Given the description of an element on the screen output the (x, y) to click on. 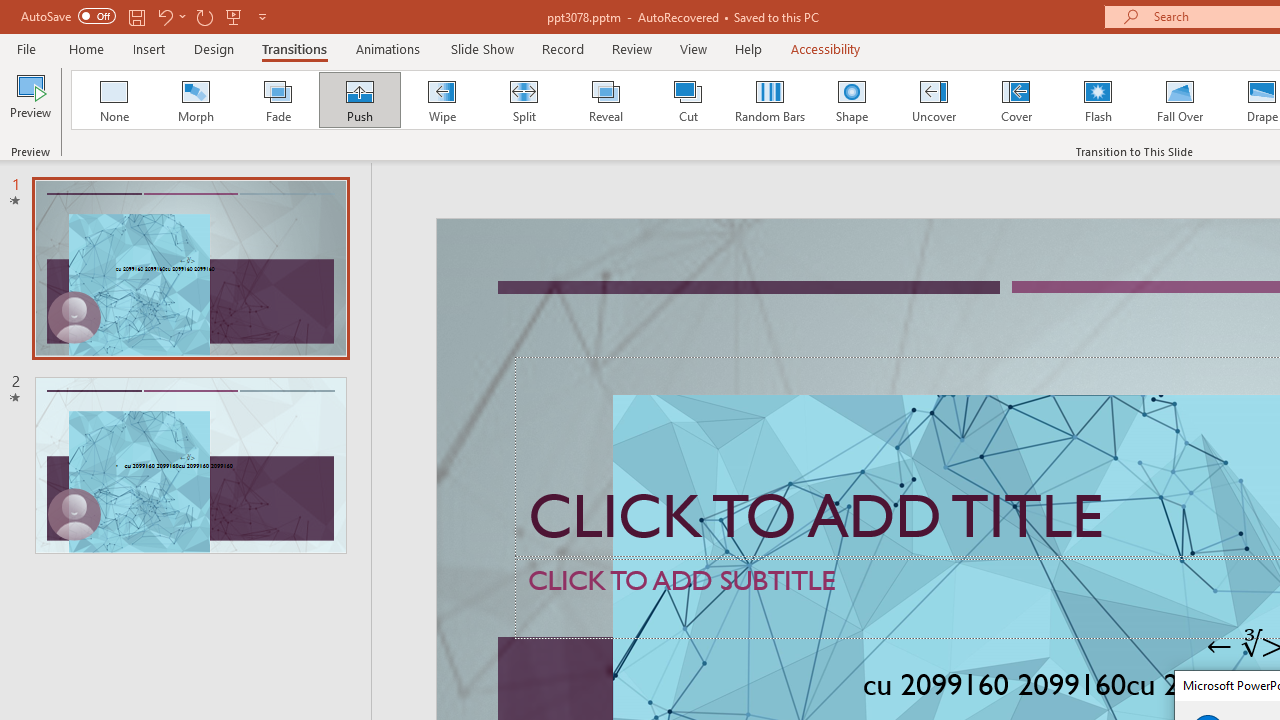
Shape (852, 100)
Random Bars (770, 100)
